Given the description of an element on the screen output the (x, y) to click on. 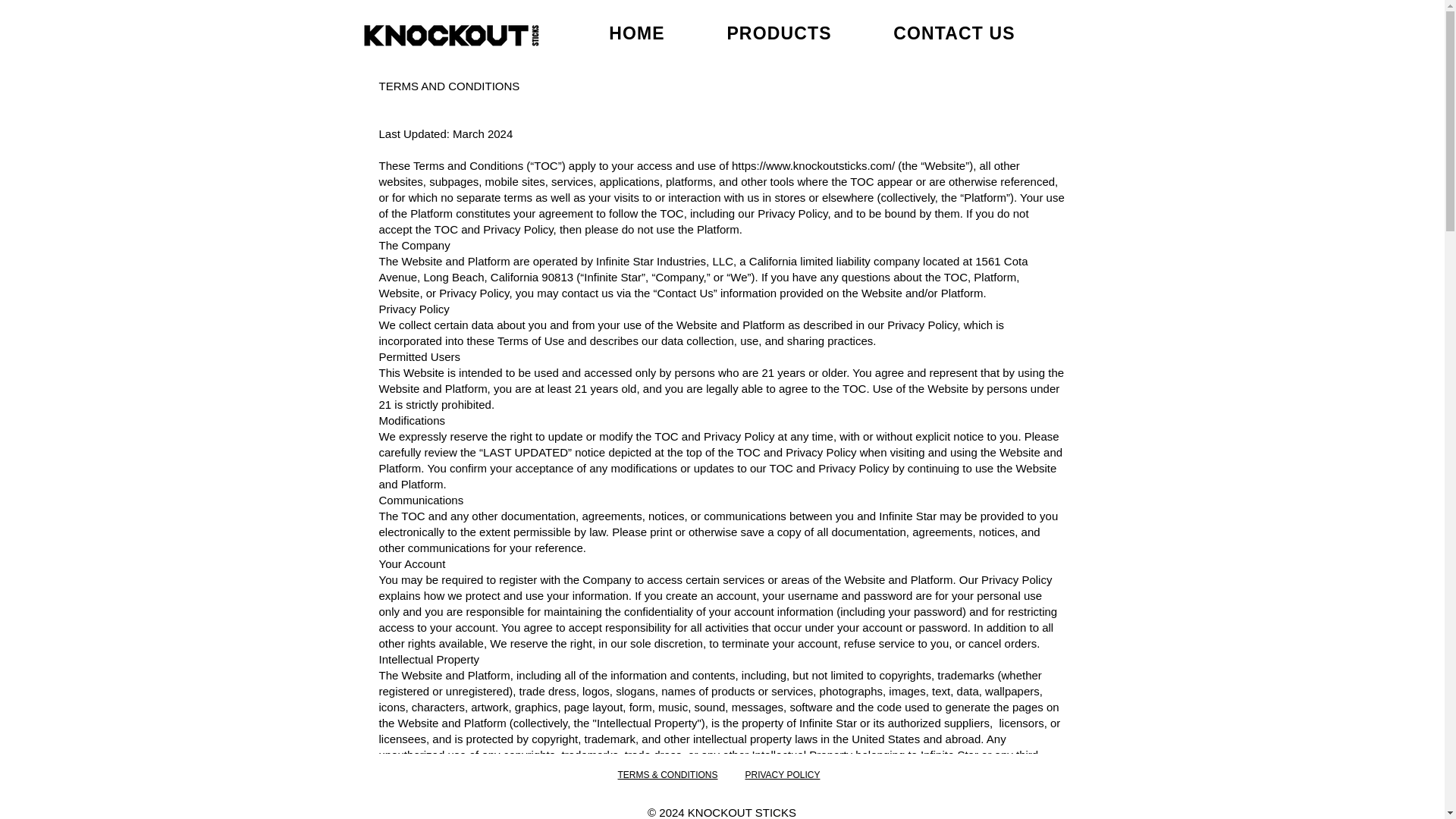
PRIVACY POLICY (781, 774)
HOME (636, 33)
CONTACT US (953, 33)
PRODUCTS (779, 33)
